Given the description of an element on the screen output the (x, y) to click on. 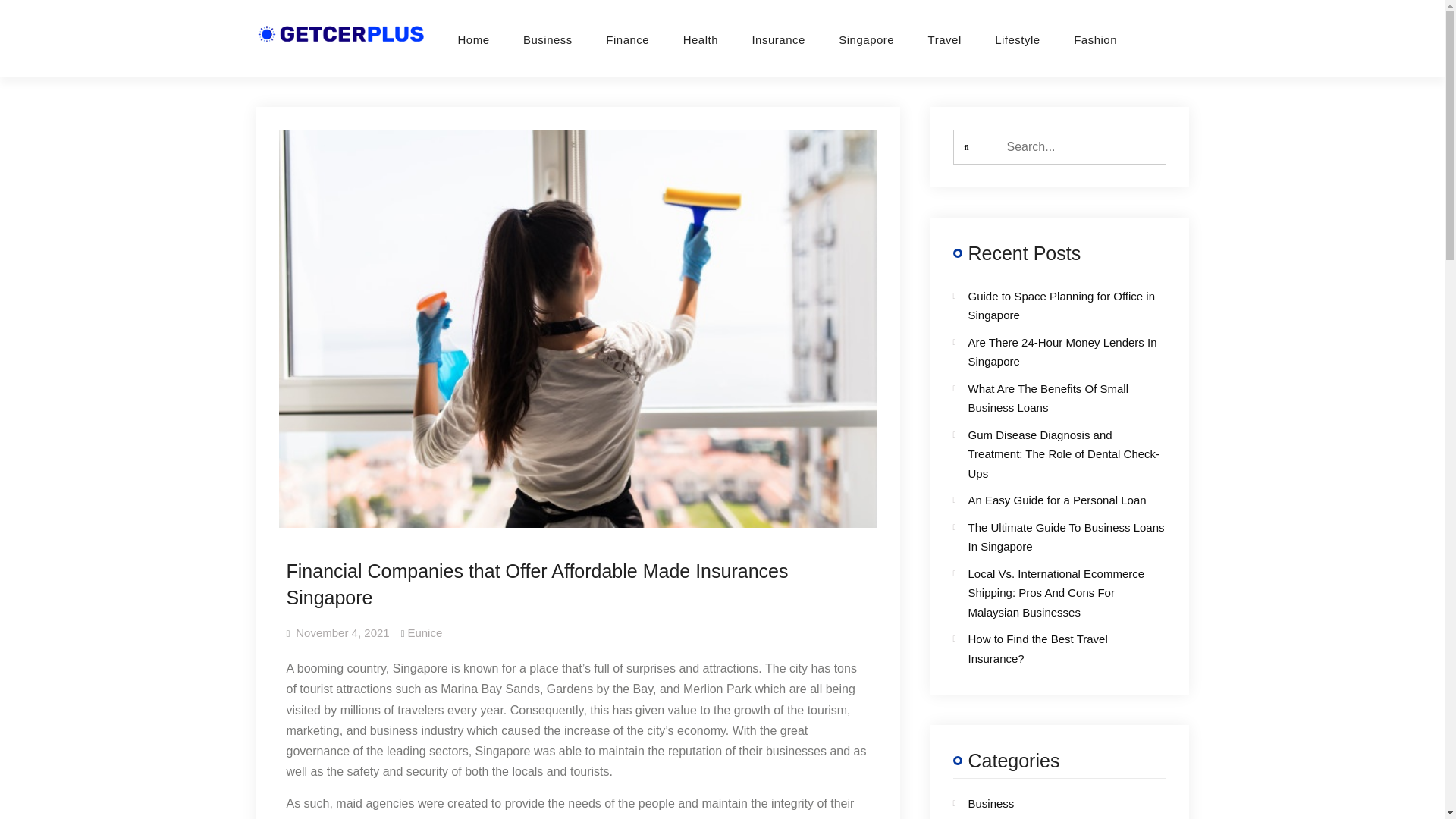
Health (700, 40)
Finance (627, 40)
The Ultimate Guide To Business Loans In Singapore (1065, 536)
Are There 24-Hour Money Lenders In Singapore (1062, 350)
Fashion (1095, 40)
Getcerplus (494, 47)
Travel (944, 40)
Eunice (424, 632)
Business (1046, 803)
